Given the description of an element on the screen output the (x, y) to click on. 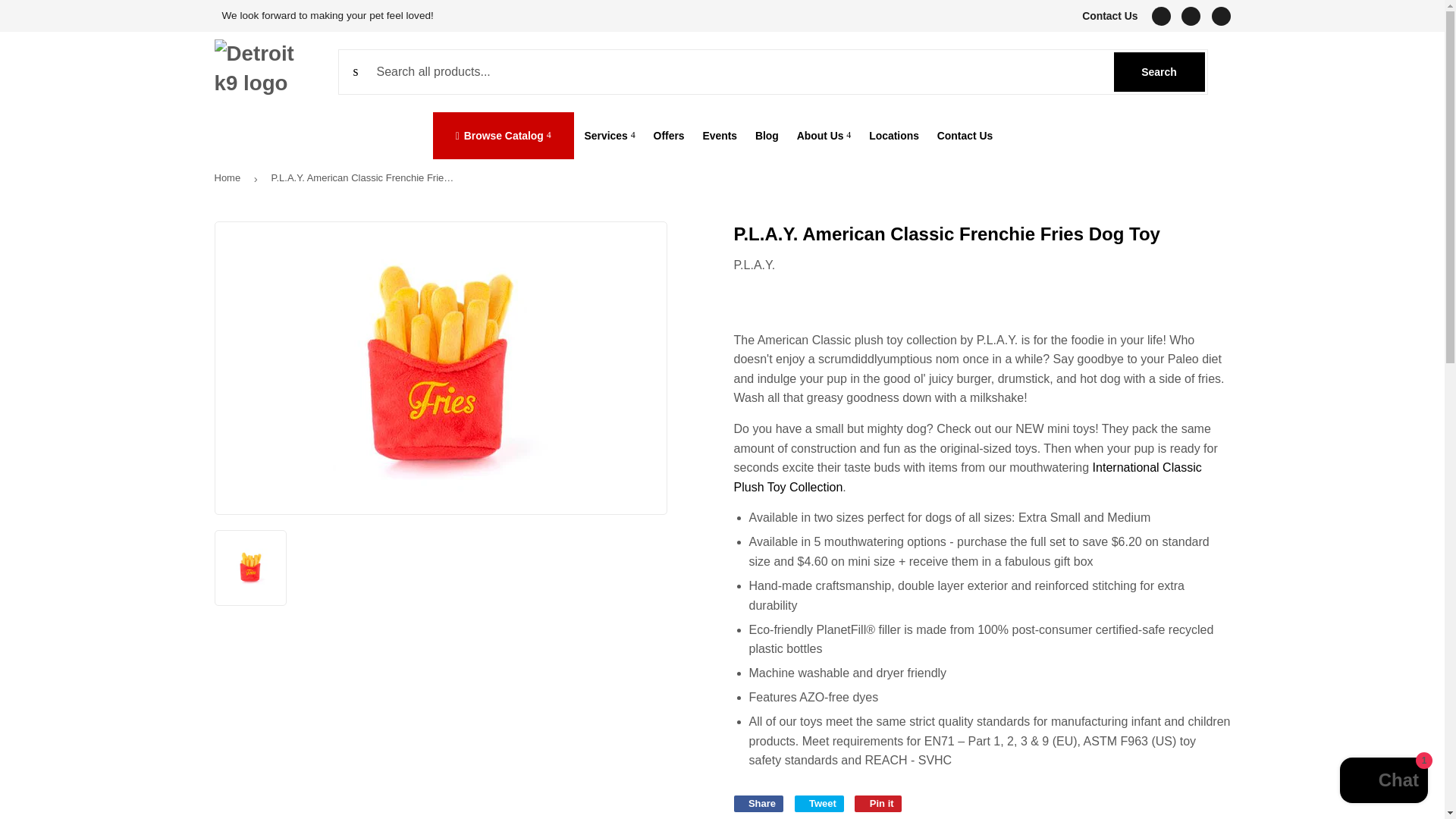
Shopify online store chat (1383, 781)
International Classic Toy Collection (967, 477)
Share on Facebook (758, 803)
Detroit K-9 Pet Supplies on Instagram (1220, 15)
 Contact Us (1107, 15)
Detroit K-9 Pet Supplies on Twitter (1160, 15)
Facebook (1189, 15)
Detroit K-9 Pet Supplies on Facebook (1189, 15)
Twitter (1160, 15)
Pin on Pinterest (877, 803)
Tweet on Twitter (819, 803)
Browse Catalog (502, 135)
Open Product Zoom (441, 367)
Instagram (1158, 71)
